Given the description of an element on the screen output the (x, y) to click on. 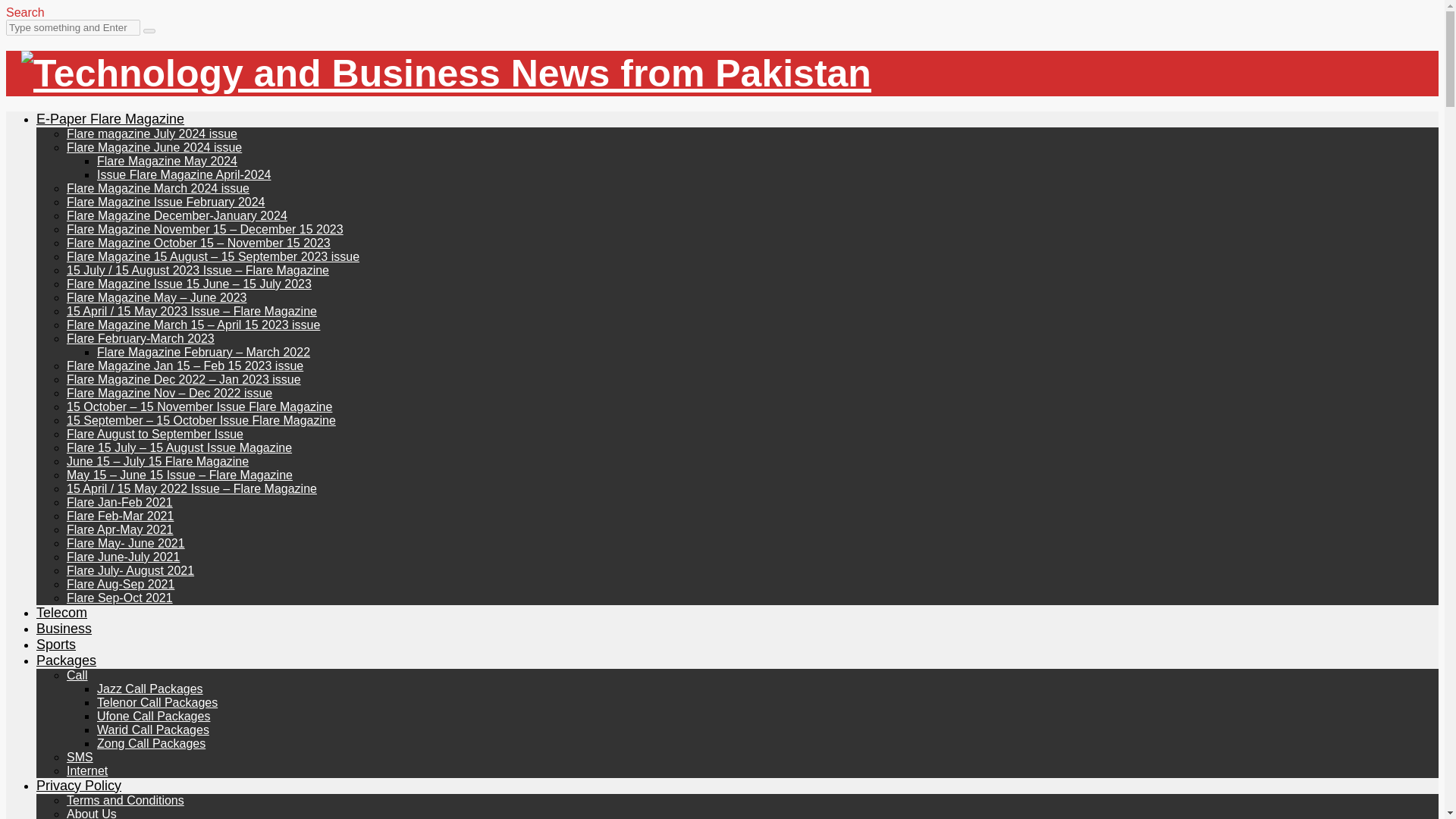
Flare February-March 2023 (140, 338)
Flare June-July 2021 (122, 556)
Flare August to September Issue (154, 433)
E-Paper Flare Magazine (110, 118)
Flare magazine July 2024 issue (151, 133)
Issue Flare Magazine April-2024 (183, 174)
Flare Feb-Mar 2021 (119, 515)
Flare May- June 2021 (125, 543)
Flare Magazine December-January 2024 (176, 215)
Flare Magazine May 2024 (167, 160)
